Given the description of an element on the screen output the (x, y) to click on. 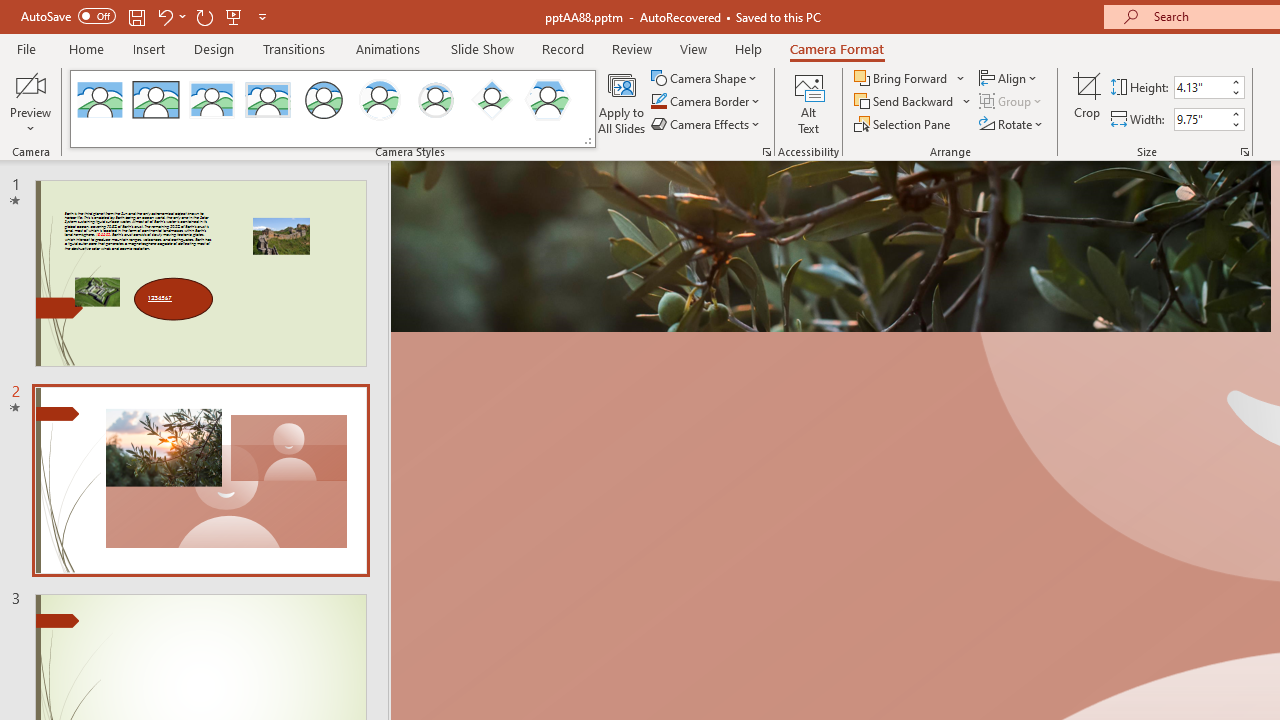
Camera Border Teal, Accent 1 (658, 101)
Group (1012, 101)
Cameo Width (1201, 119)
Bring Forward (910, 78)
Close up of an olive branch on a sunset (830, 246)
Class: Net UI Tool Window (333, 108)
